Given the description of an element on the screen output the (x, y) to click on. 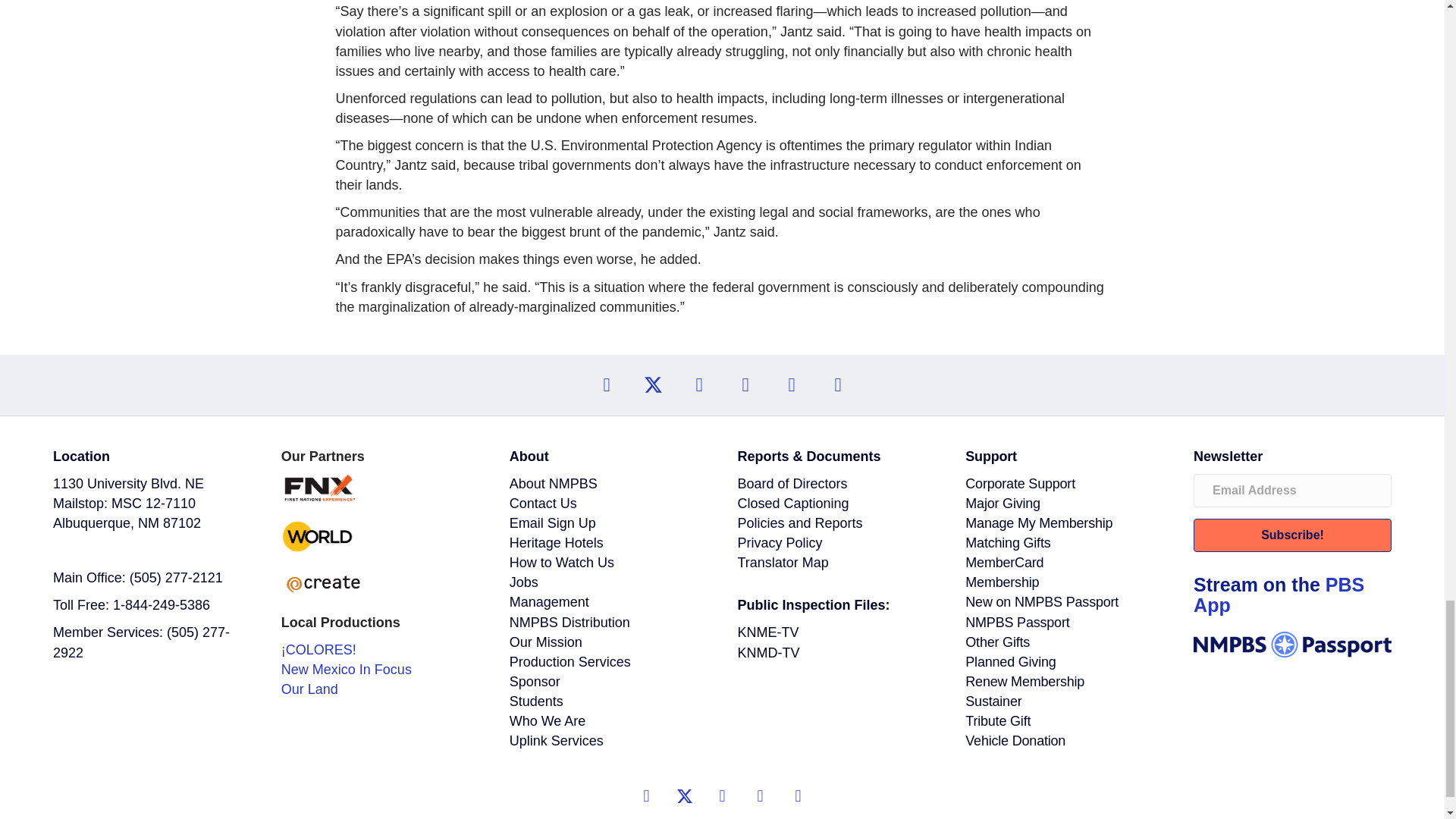
YouTube (605, 384)
Facebook (699, 384)
Instagram (745, 384)
